Given the description of an element on the screen output the (x, y) to click on. 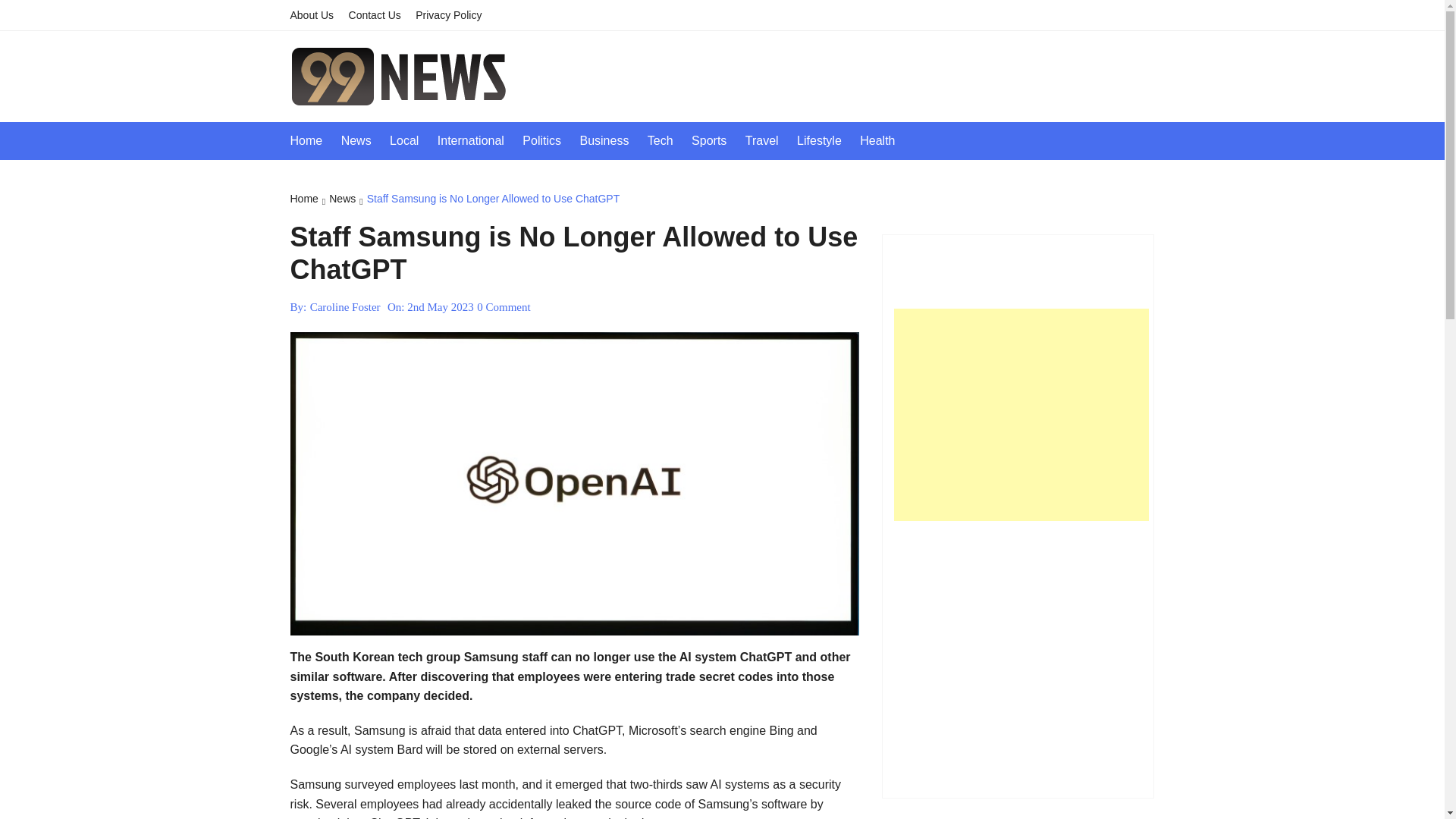
Politics (549, 140)
About Us (317, 15)
Local (411, 140)
Lifestyle (826, 140)
Home (313, 140)
2nd May 2023 (440, 307)
Tech (667, 140)
Staff Samsung is No Longer Allowed to Use ChatGPT (493, 199)
Business (611, 140)
News (347, 199)
Home (309, 199)
Sports (716, 140)
Contact Us (380, 15)
International (478, 140)
News (363, 140)
